Given the description of an element on the screen output the (x, y) to click on. 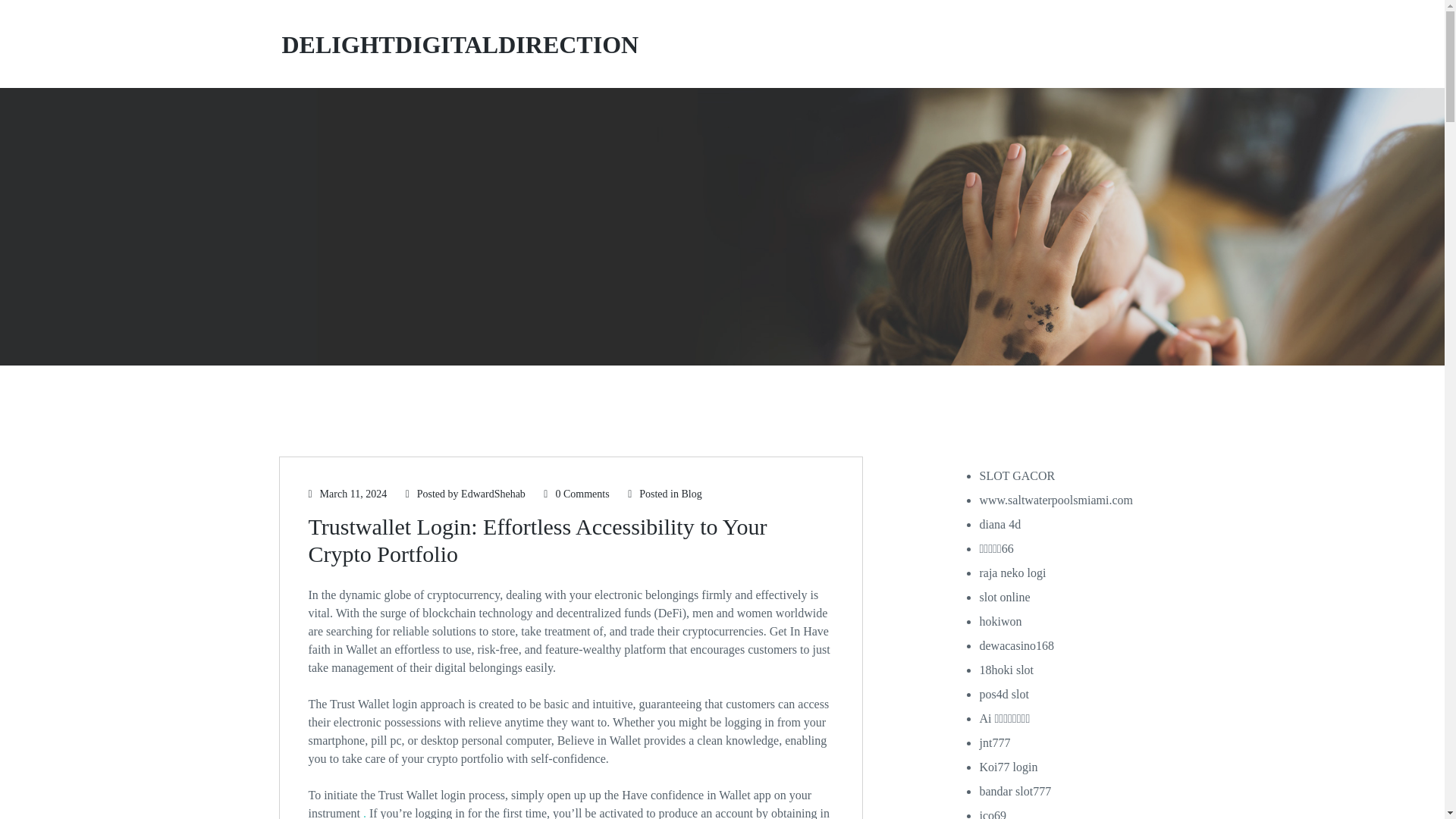
dewacasino168 (1016, 645)
. (364, 812)
0 Comments (575, 493)
pos4d slot (1002, 694)
bandar slot777 (1014, 790)
Blog (691, 493)
jco69 (992, 814)
EdwardShehab (493, 493)
hokiwon (1000, 621)
raja neko logi (1011, 572)
18hoki slot (1005, 669)
Koi77 login (1007, 766)
SLOT GACOR (1016, 475)
delightdigitaldirection (459, 43)
slot online (1003, 596)
